Given the description of an element on the screen output the (x, y) to click on. 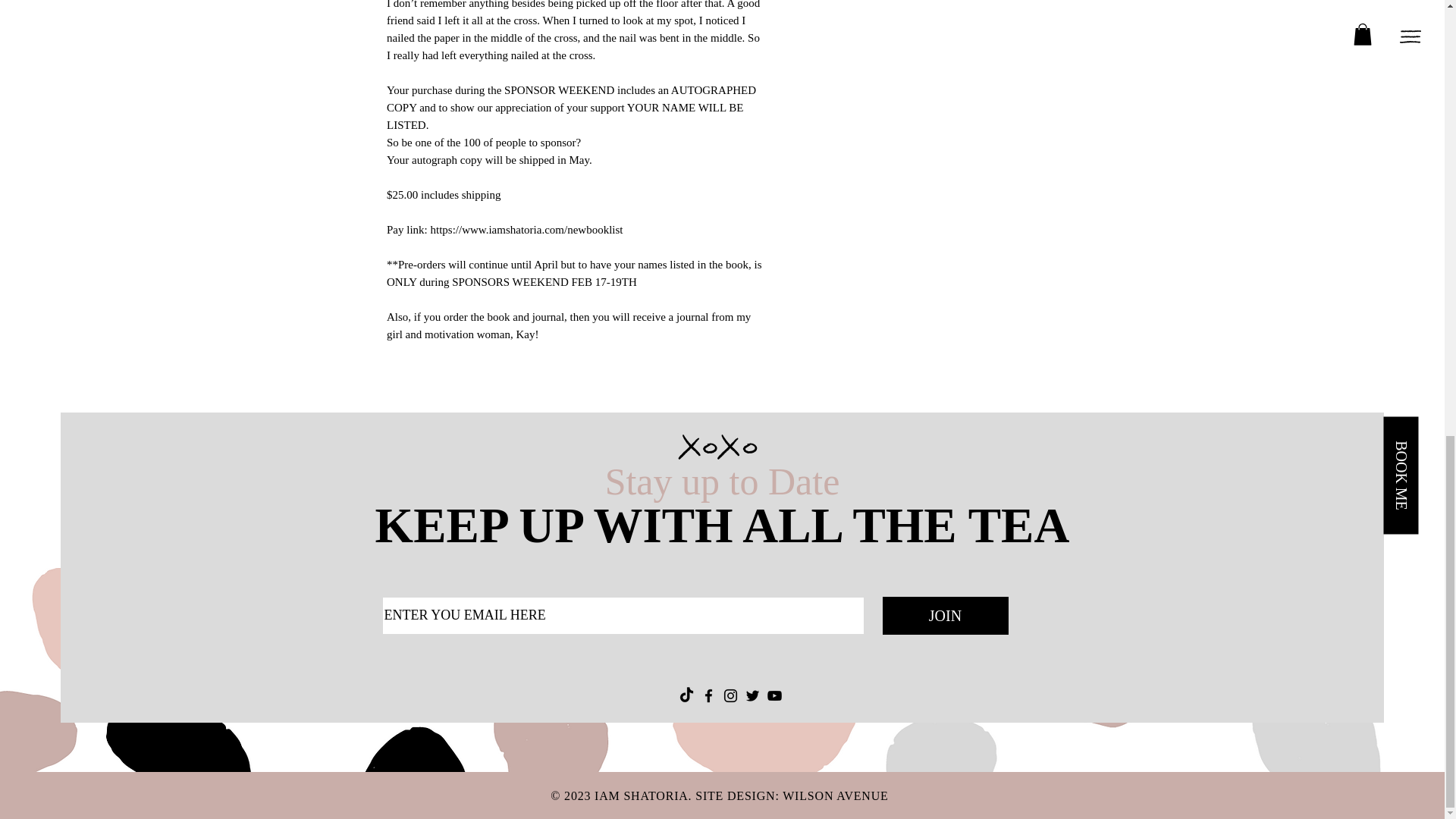
JOIN (945, 615)
WILSON AVENUE (835, 795)
